Given the description of an element on the screen output the (x, y) to click on. 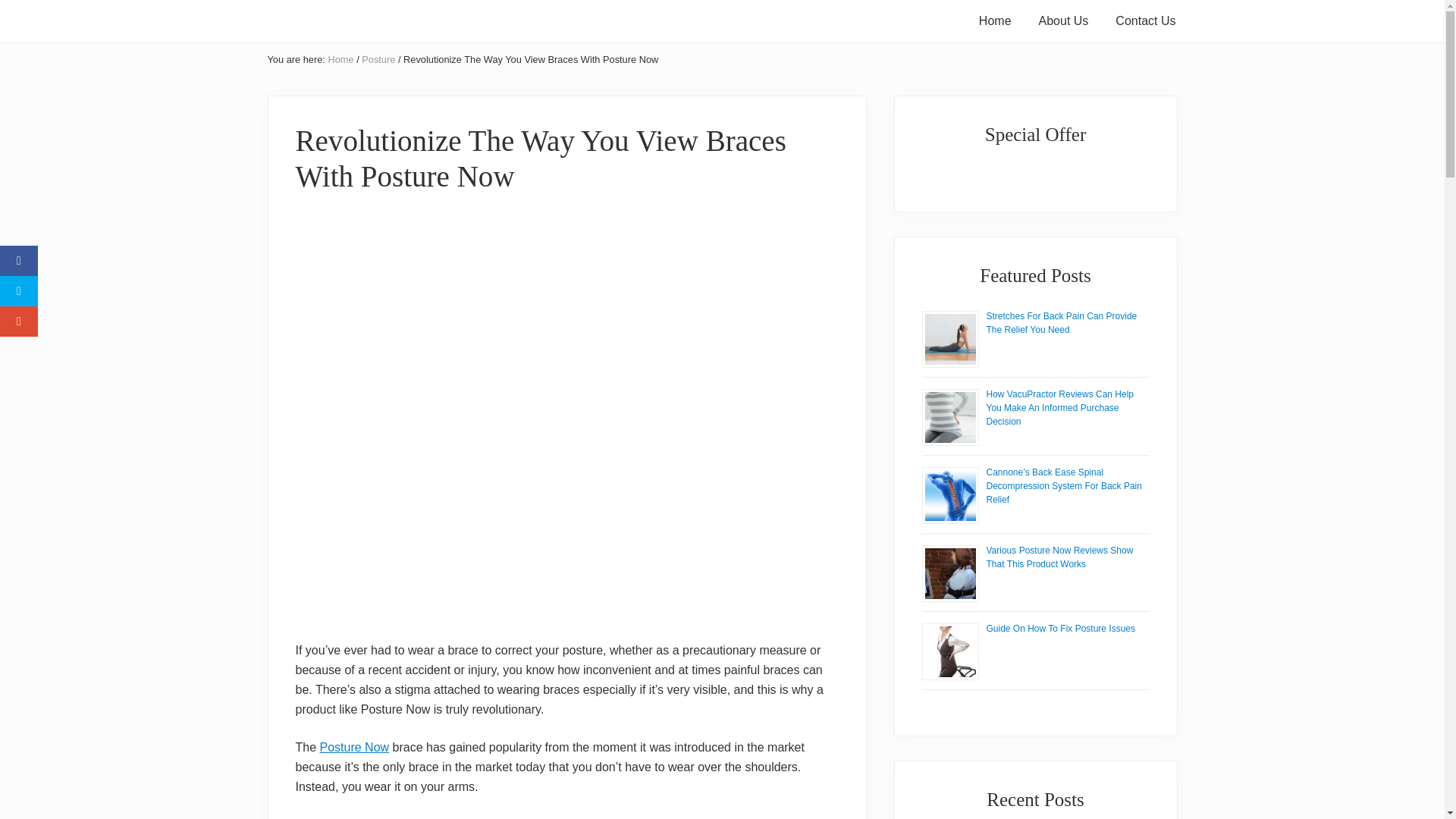
Posture Now (355, 747)
Posture (377, 59)
About Us (1063, 20)
Contact Us (1145, 20)
Home (994, 20)
Home (340, 59)
